Given the description of an element on the screen output the (x, y) to click on. 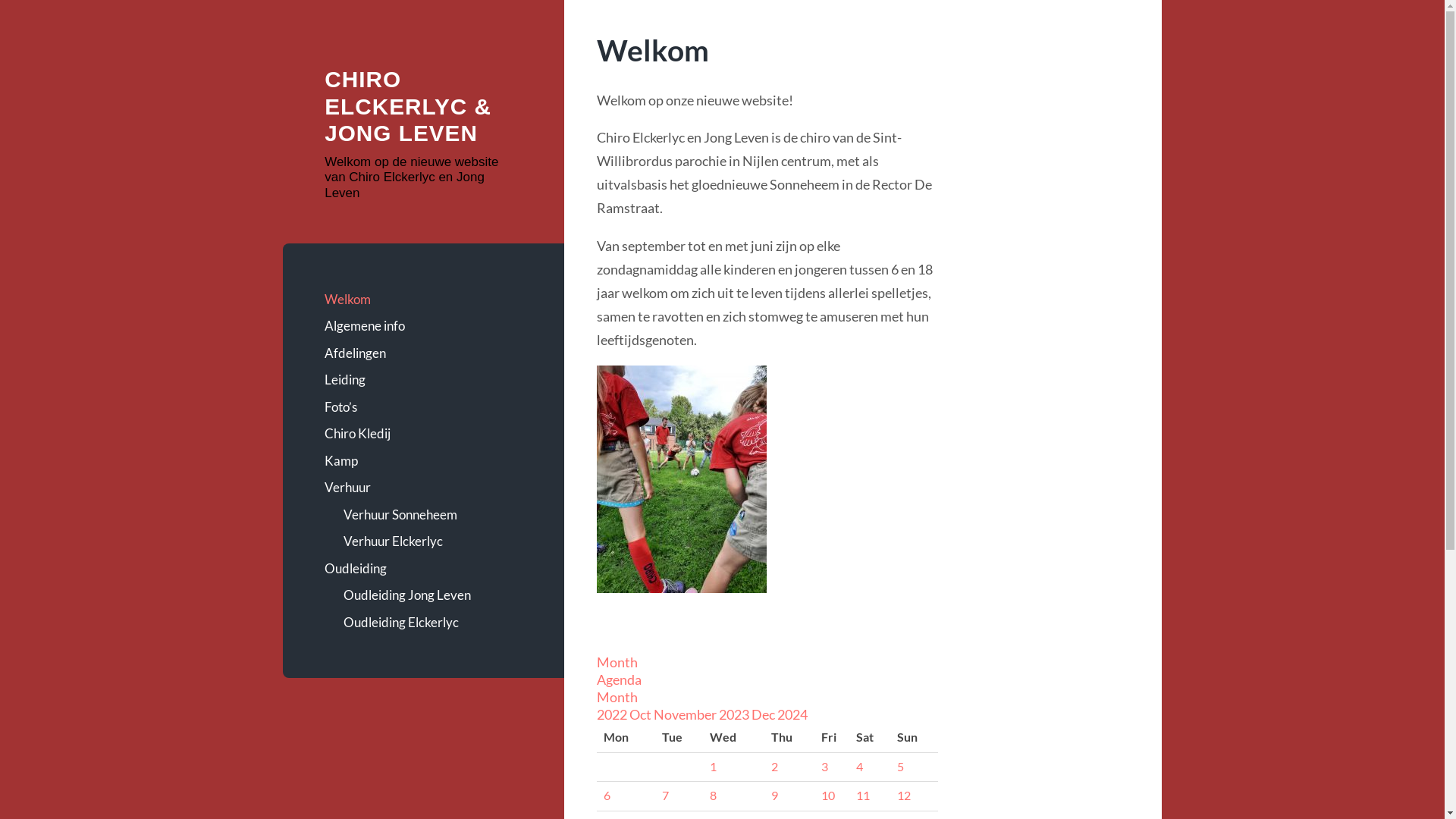
Oudleiding Element type: text (422, 568)
4 Element type: text (859, 765)
Verhuur Element type: text (422, 487)
7 Element type: text (665, 795)
3 Element type: text (824, 765)
November 2023 Element type: text (702, 714)
Month Element type: text (616, 696)
Dec Element type: text (764, 714)
CHIRO ELCKERLYC & JONG LEVEN Element type: text (407, 105)
11 Element type: text (862, 795)
2022 Element type: text (612, 714)
Chiro Kledij Element type: text (422, 433)
9 Element type: text (774, 795)
Algemene info Element type: text (422, 325)
Verhuur Sonneheem Element type: text (432, 514)
Kamp Element type: text (422, 460)
12 Element type: text (903, 795)
Verhuur Elckerlyc Element type: text (432, 541)
1 Element type: text (712, 765)
8 Element type: text (712, 795)
Oudleiding Elckerlyc Element type: text (432, 622)
Oct Element type: text (641, 714)
Oudleiding Jong Leven Element type: text (432, 594)
Welkom Element type: text (422, 299)
Month Element type: text (616, 661)
2024 Element type: text (792, 714)
Agenda Element type: text (618, 679)
Leiding Element type: text (422, 379)
5 Element type: text (900, 765)
2 Element type: text (774, 765)
6 Element type: text (606, 795)
Afdelingen Element type: text (422, 353)
10 Element type: text (827, 795)
